Given the description of an element on the screen output the (x, y) to click on. 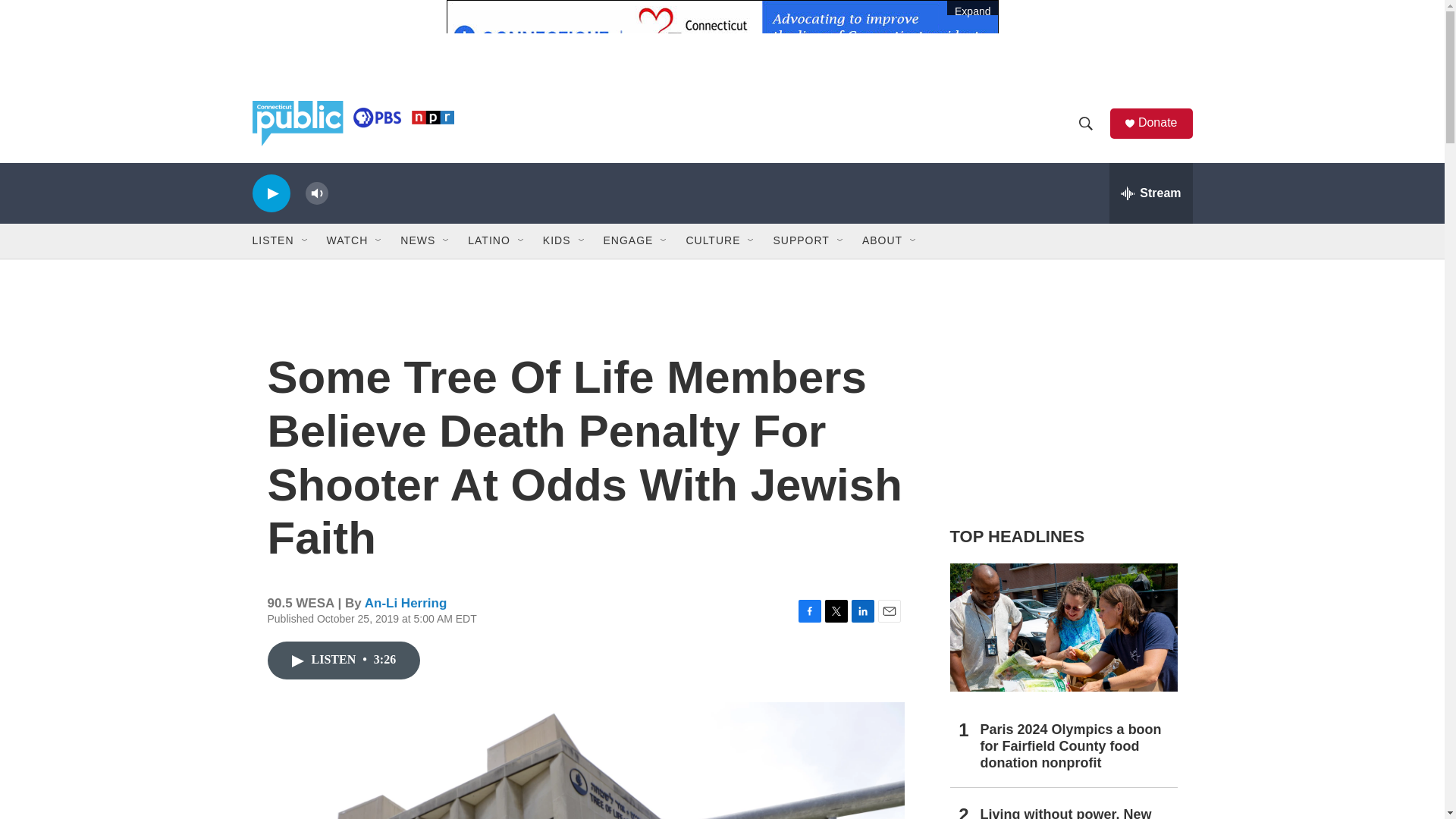
3rd party ad content (1062, 400)
Expand (721, 33)
